Given the description of an element on the screen output the (x, y) to click on. 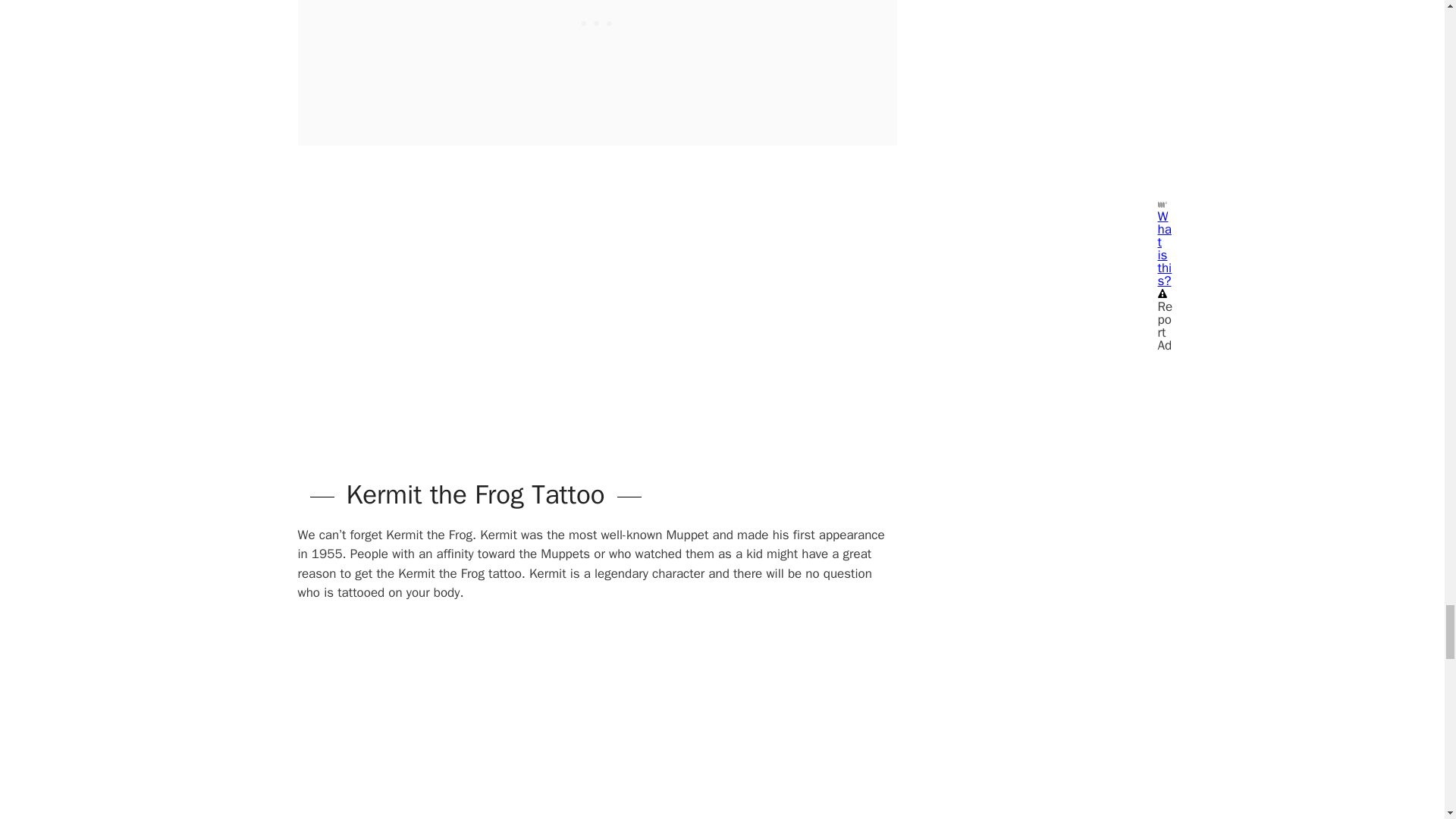
Latest Tattoos (468, 293)
